Given the description of an element on the screen output the (x, y) to click on. 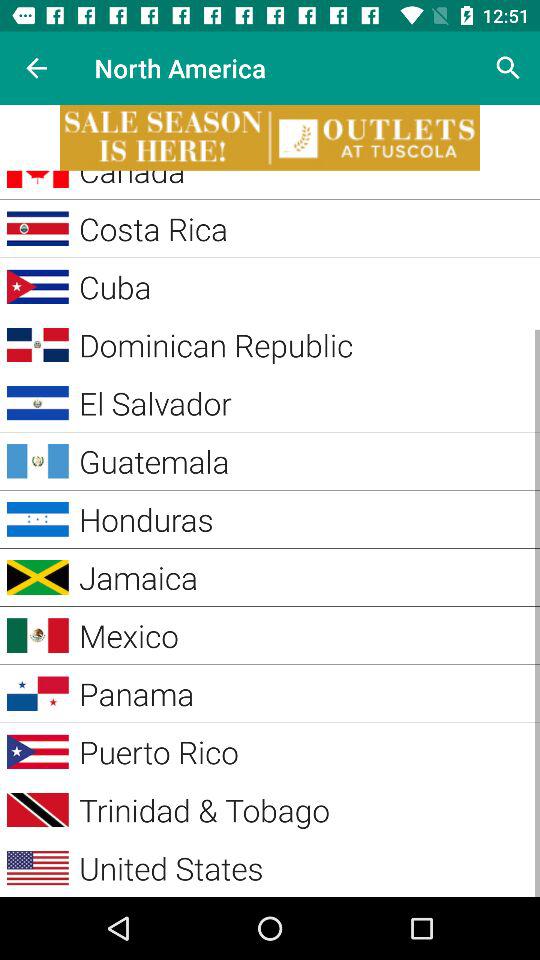
adventisment (270, 137)
